Given the description of an element on the screen output the (x, y) to click on. 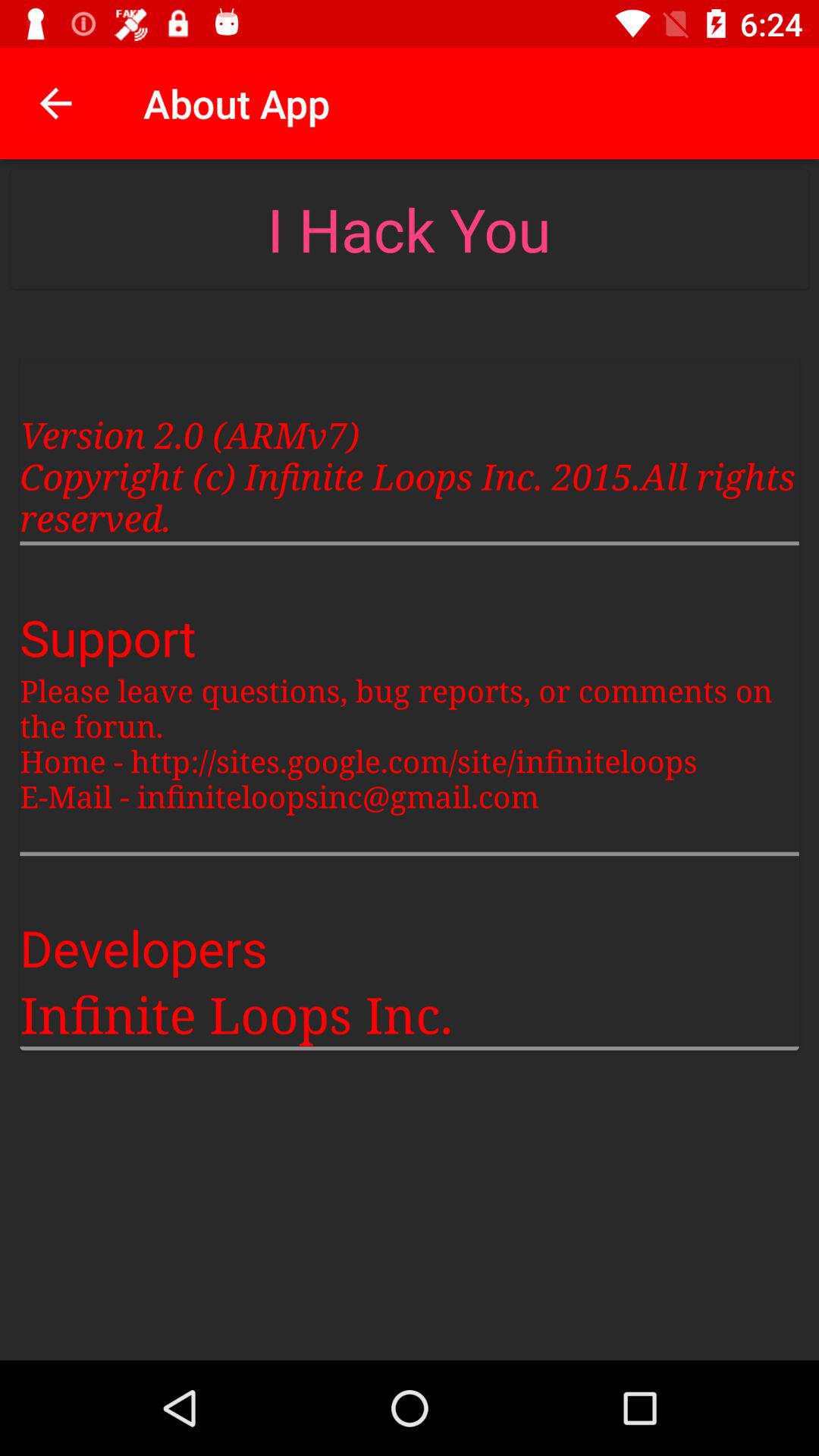
select icon below the about app (409, 229)
